Given the description of an element on the screen output the (x, y) to click on. 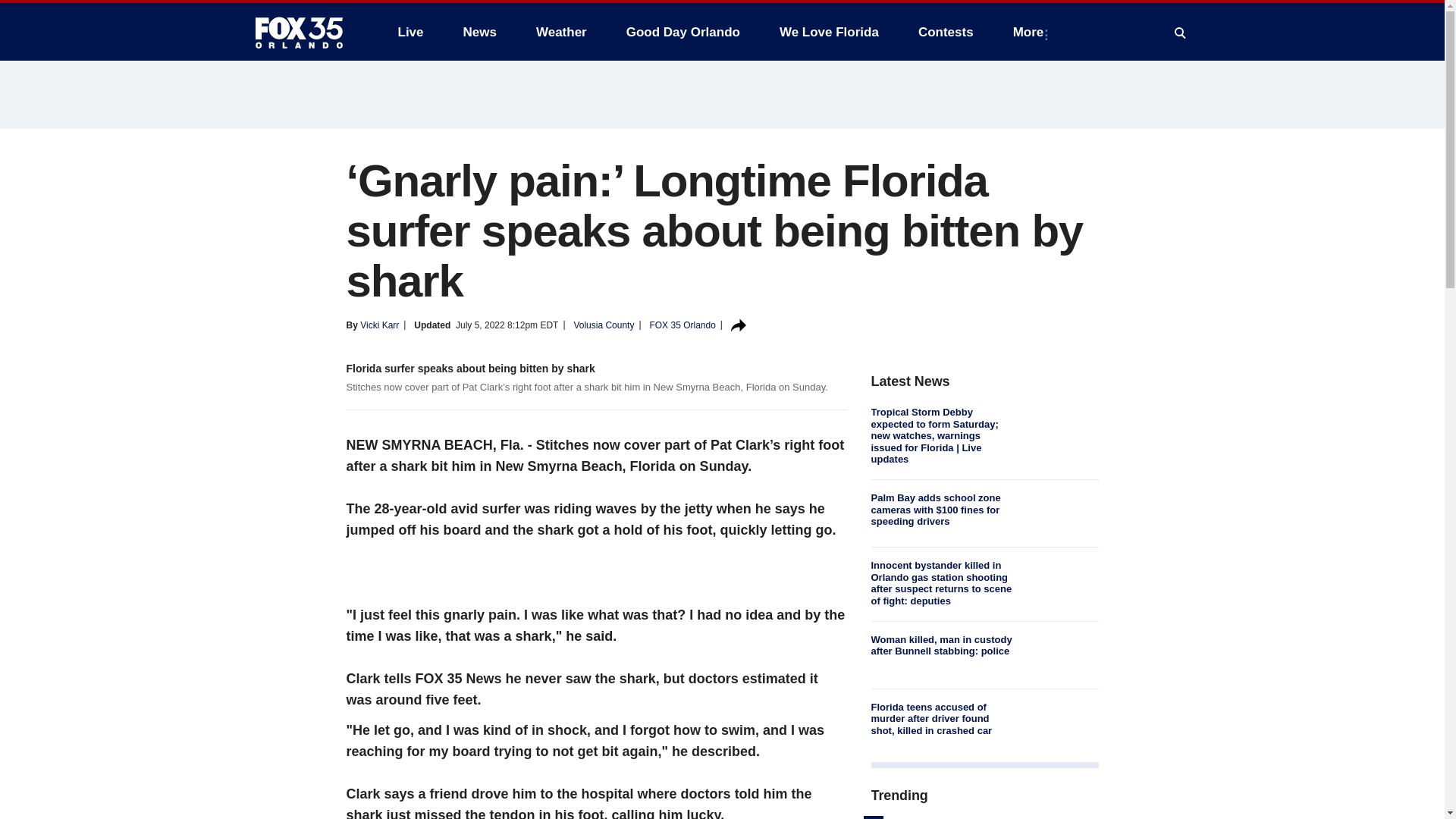
Contests (945, 32)
Weather (561, 32)
More (1031, 32)
Live (410, 32)
News (479, 32)
We Love Florida (829, 32)
Good Day Orlando (683, 32)
